Given the description of an element on the screen output the (x, y) to click on. 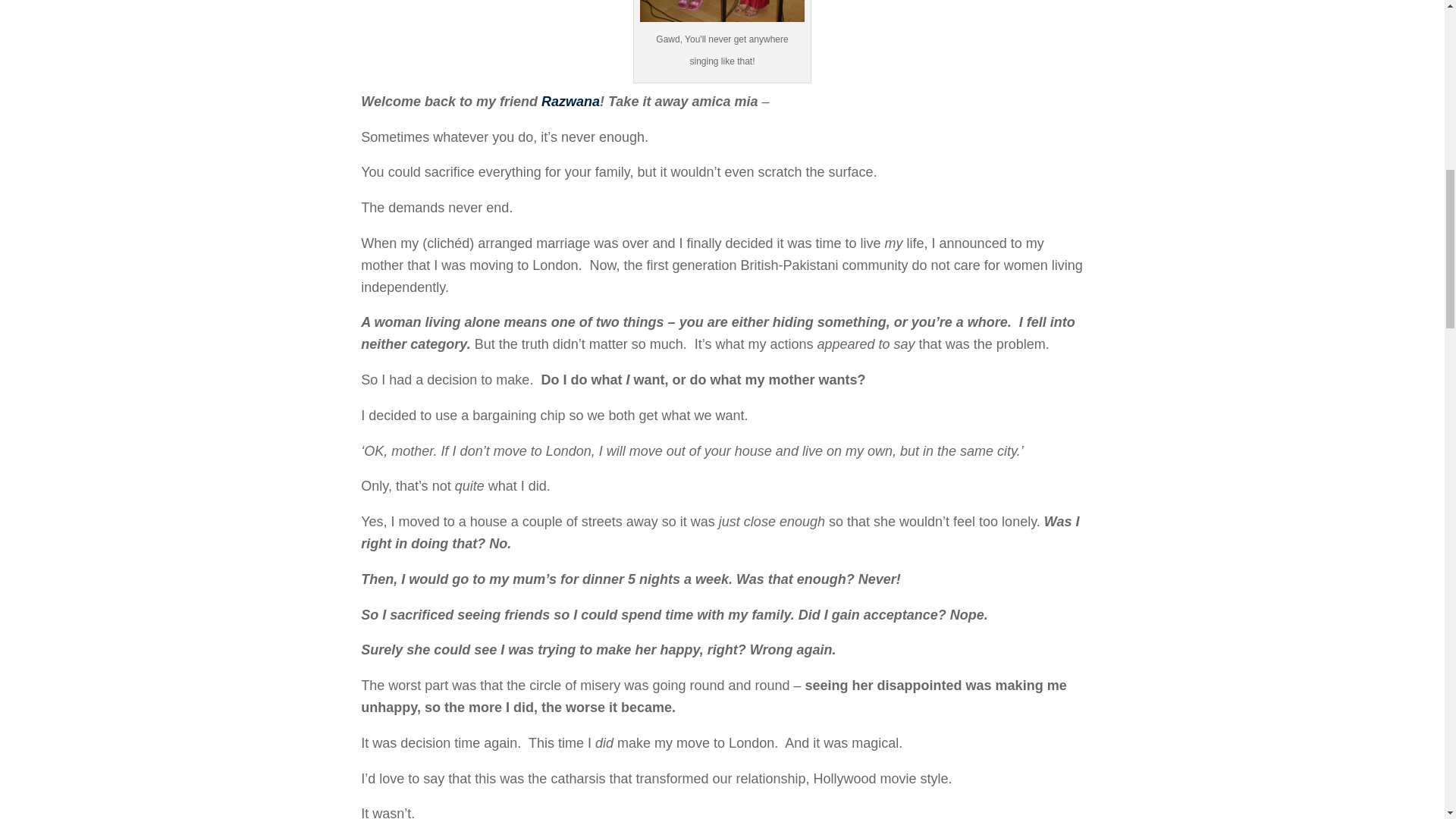
Razwana (570, 101)
